Given the description of an element on the screen output the (x, y) to click on. 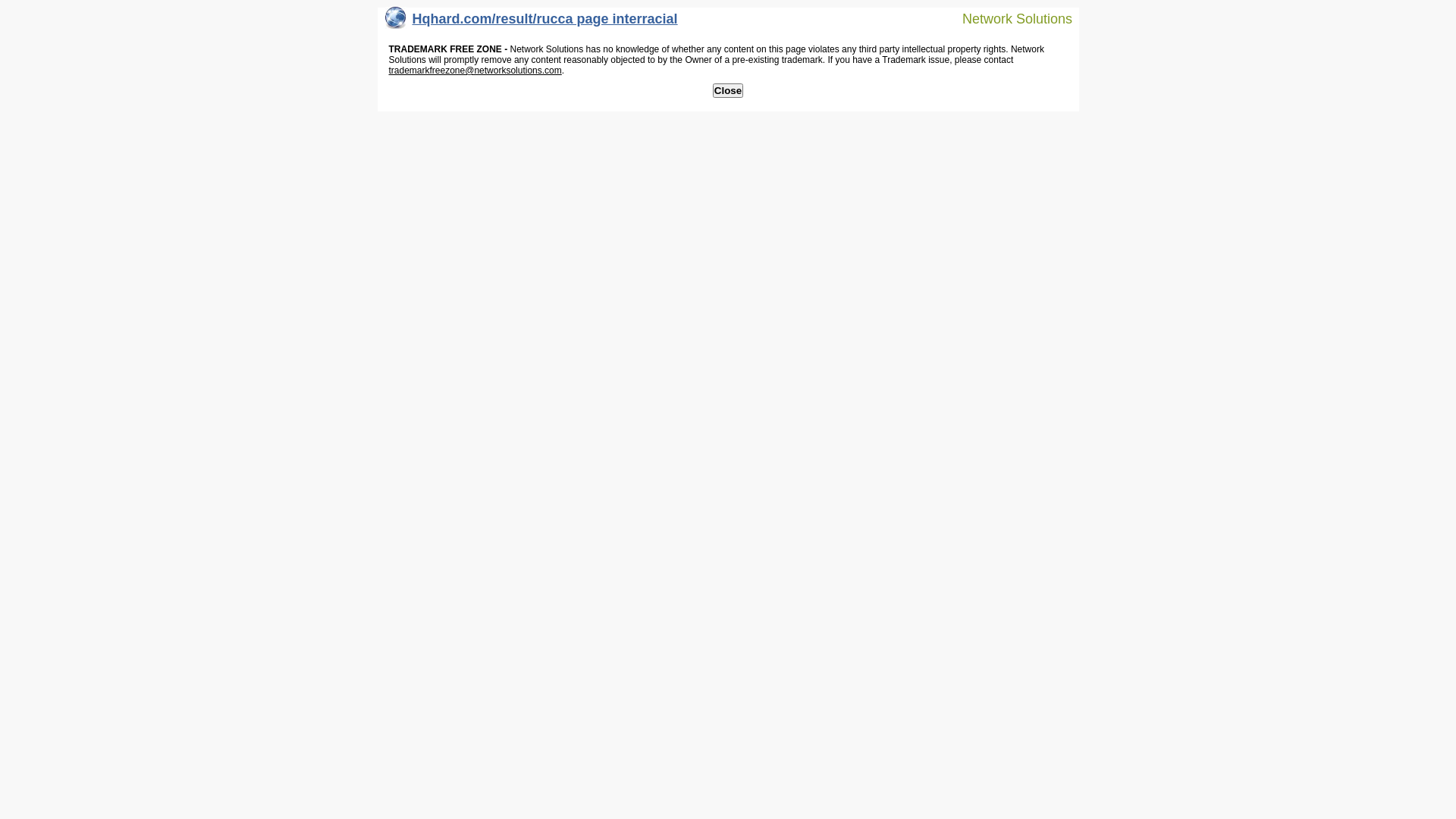
trademarkfreezone@networksolutions.com Element type: text (474, 70)
Hqhard.com/result/rucca page interracial Element type: text (531, 21)
Network Solutions Element type: text (1007, 17)
Close Element type: text (727, 90)
